Given the description of an element on the screen output the (x, y) to click on. 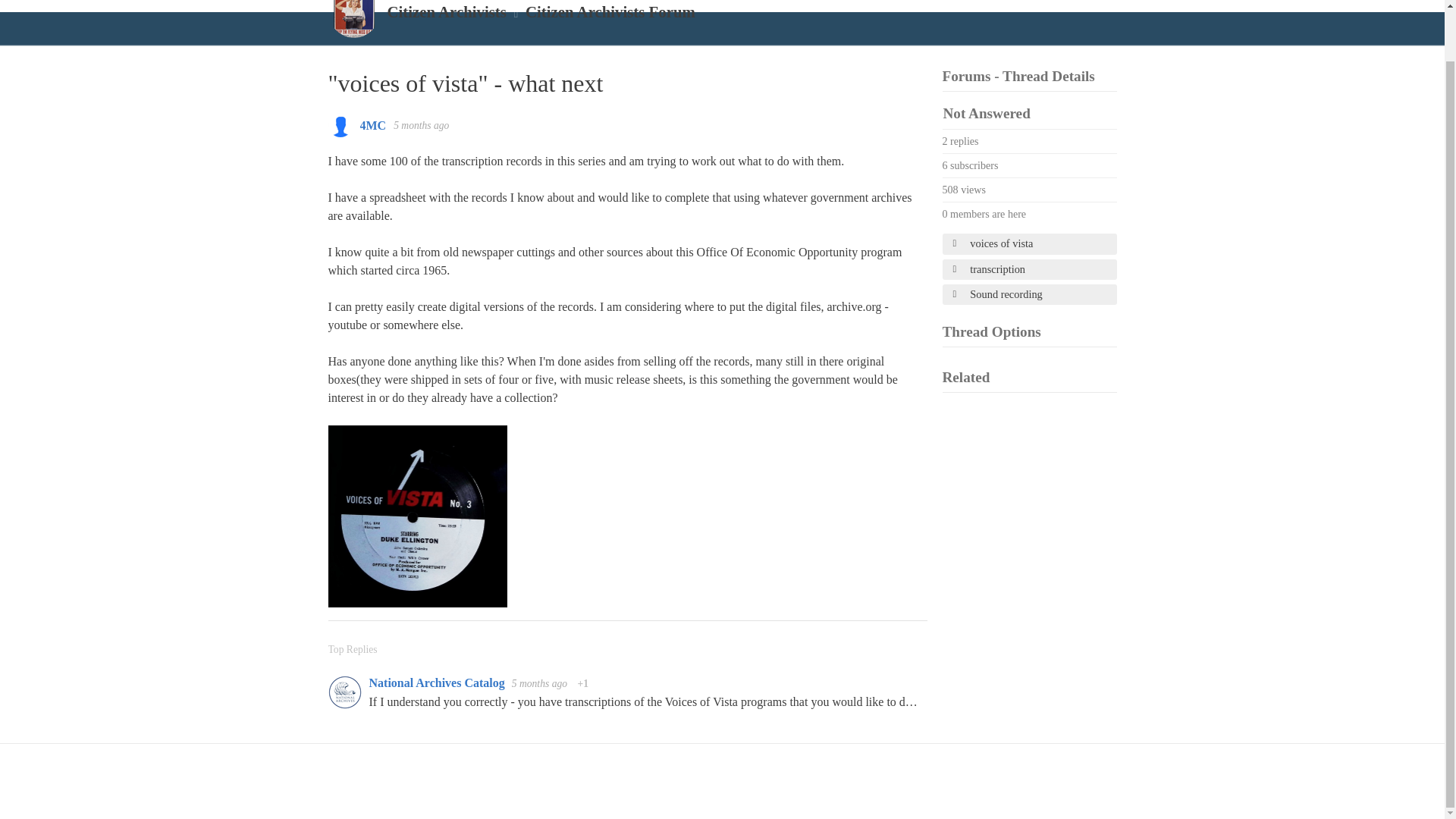
National Archives Catalog (437, 682)
Sound recording (1029, 294)
voices of vista (1029, 243)
Citizen Archivists Forum (610, 11)
transcription (1029, 269)
Citizen Archivists (446, 11)
4MC (372, 124)
5 months ago (420, 125)
5 months ago (541, 683)
